Given the description of an element on the screen output the (x, y) to click on. 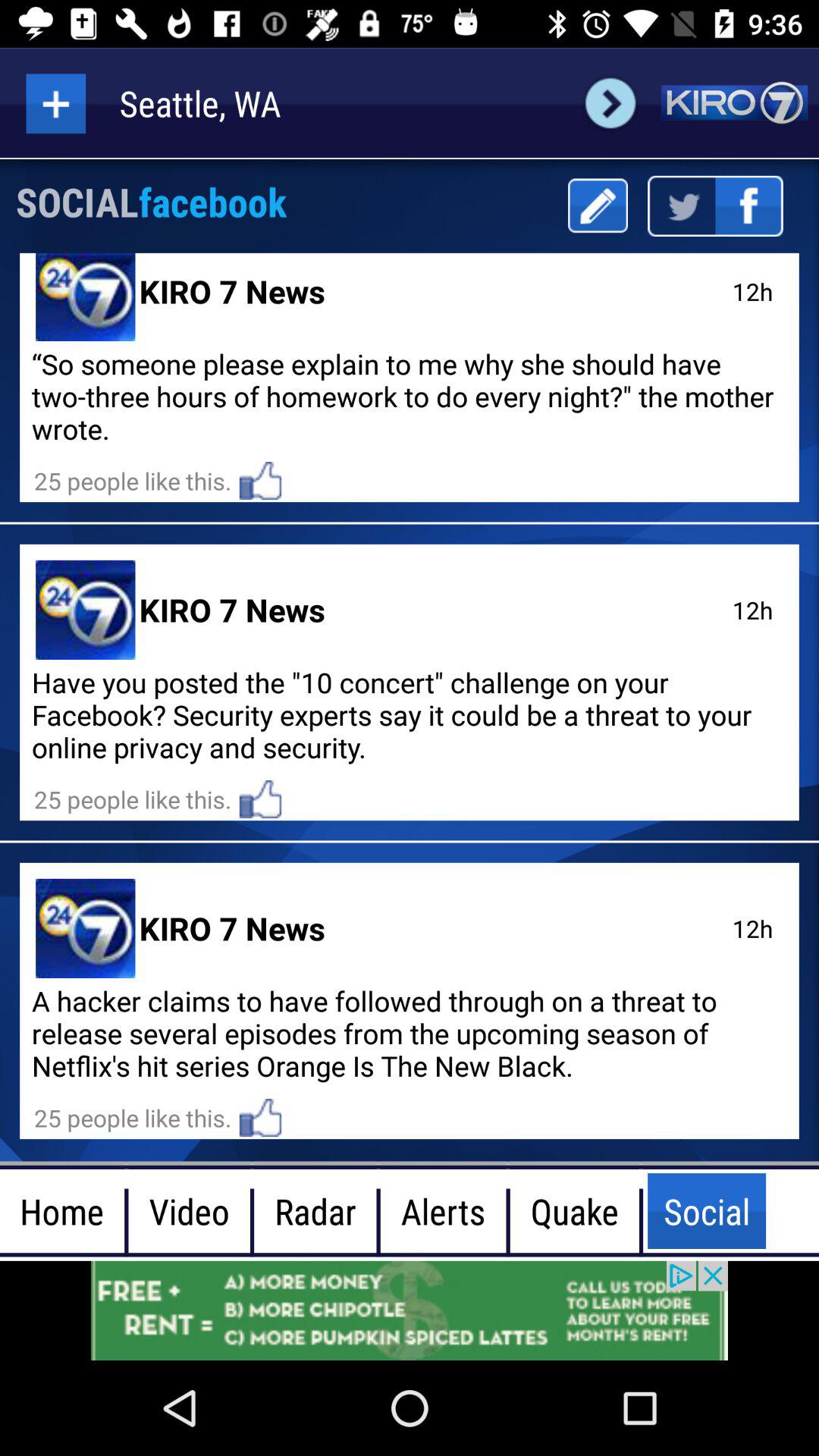
change city (610, 103)
